Given the description of an element on the screen output the (x, y) to click on. 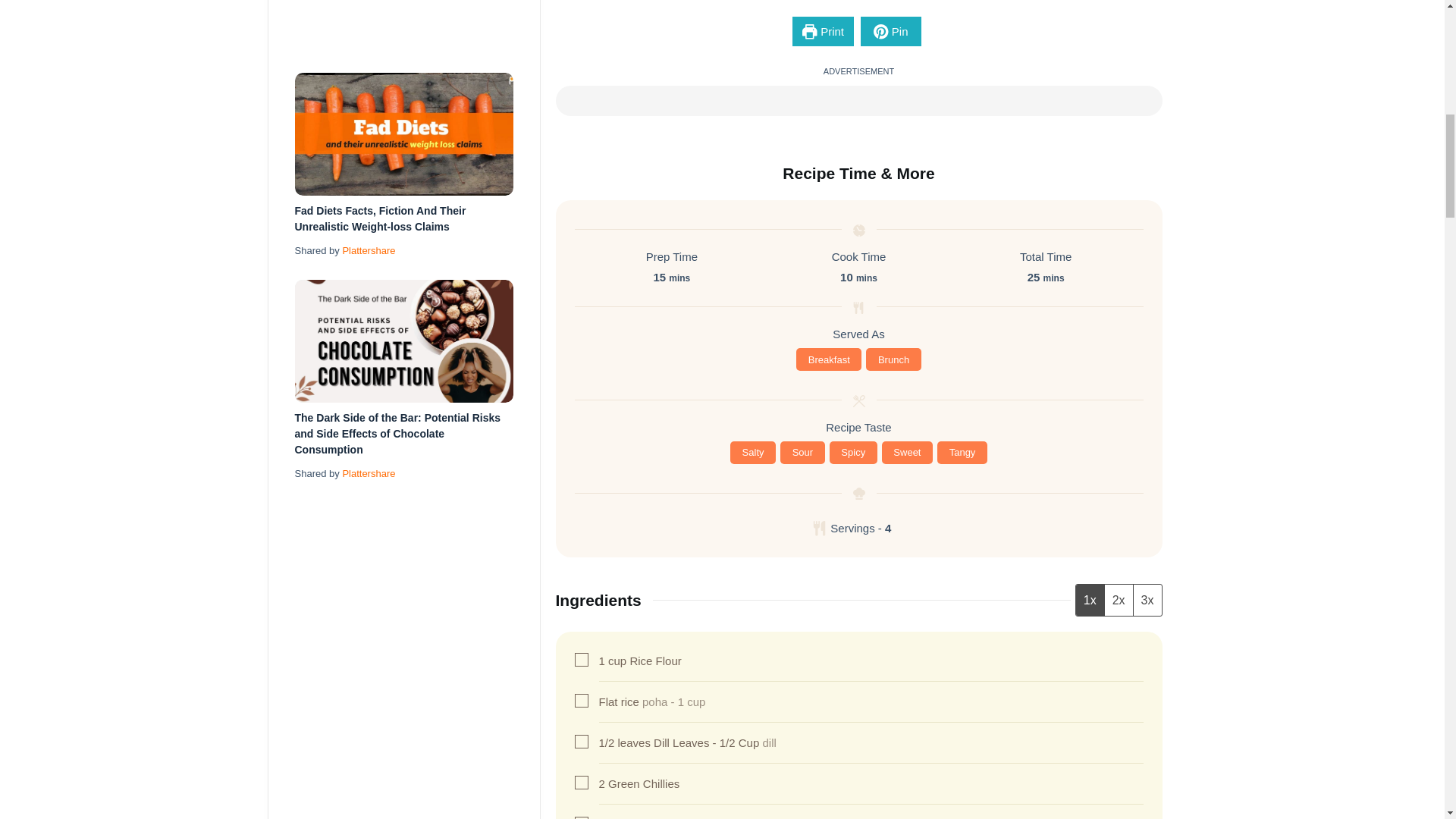
Tangy (962, 452)
Salty (753, 452)
Spicy (853, 452)
Sour (802, 452)
Print (822, 30)
Brunch (893, 359)
Pin (890, 30)
Sweet (907, 452)
Breakfast (828, 359)
